Given the description of an element on the screen output the (x, y) to click on. 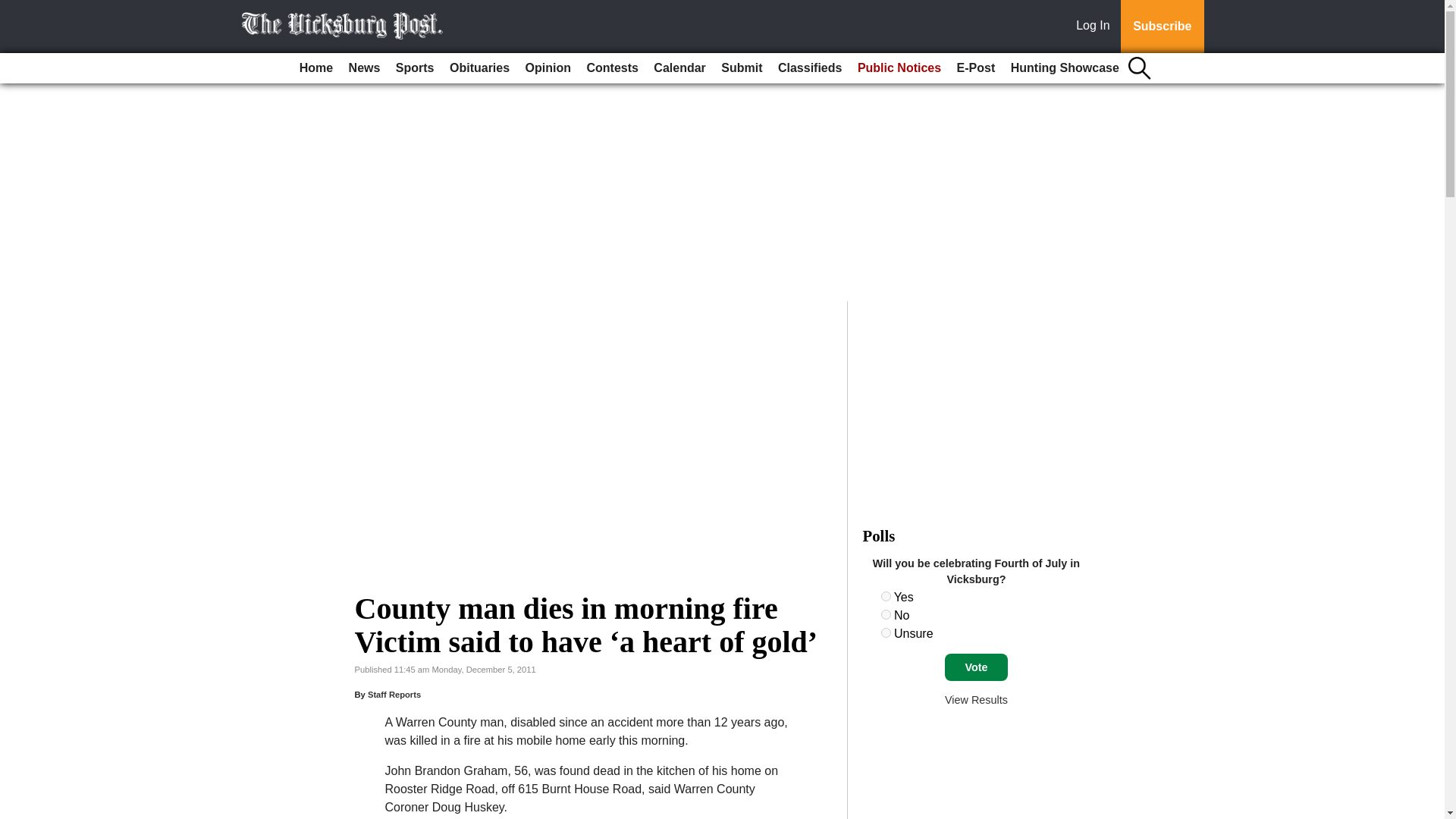
588 (885, 596)
589 (885, 614)
Classifieds (809, 68)
Public Notices (899, 68)
Sports (415, 68)
Go (13, 9)
590 (885, 633)
News (364, 68)
Obituaries (479, 68)
Hunting Showcase (1064, 68)
Submit (741, 68)
Contests (611, 68)
View Results Of This Poll (975, 699)
Log In (1095, 26)
Subscribe (1162, 26)
